Given the description of an element on the screen output the (x, y) to click on. 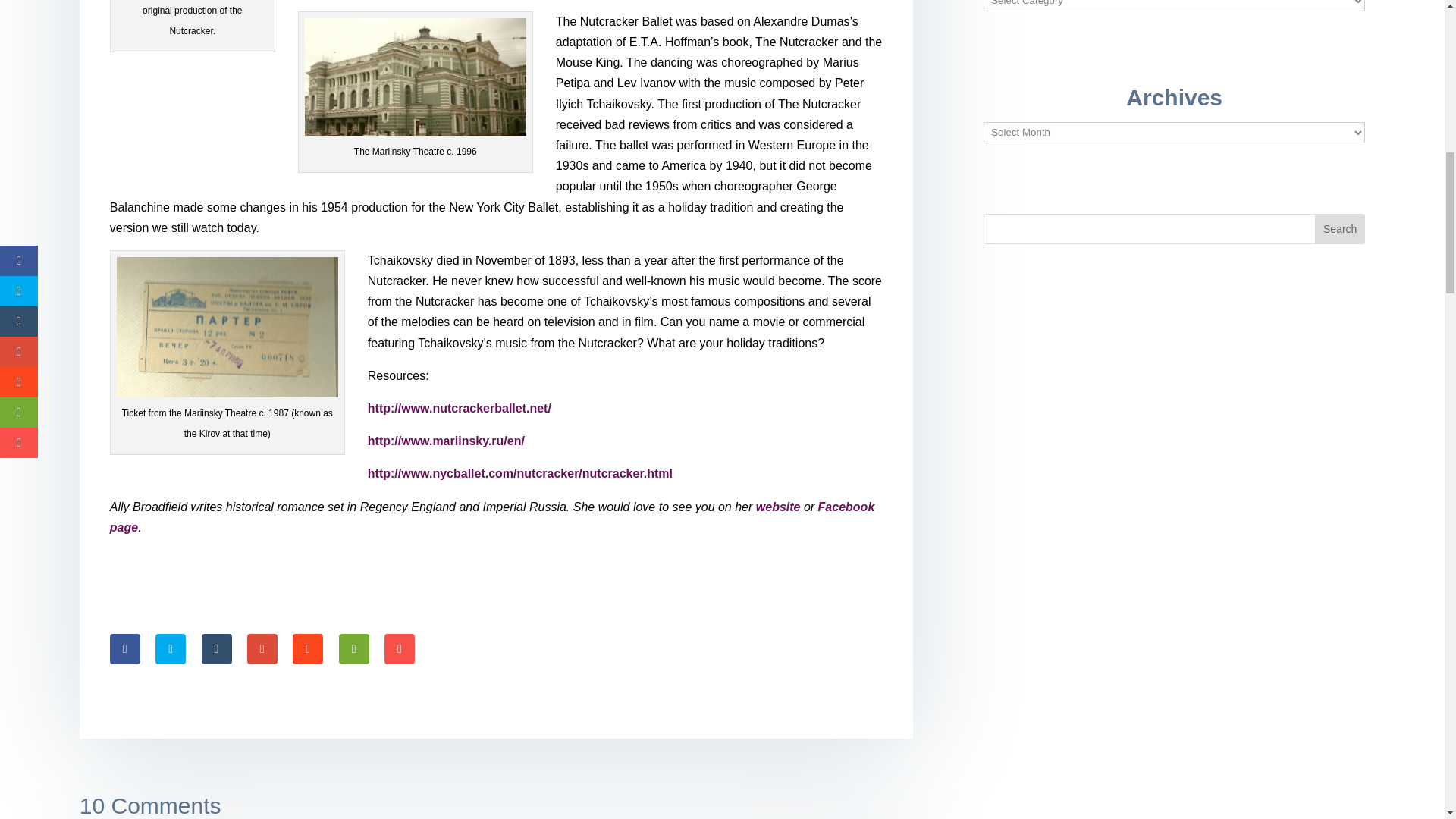
Facebook page (492, 516)
website (777, 506)
Search (1339, 228)
